Given the description of an element on the screen output the (x, y) to click on. 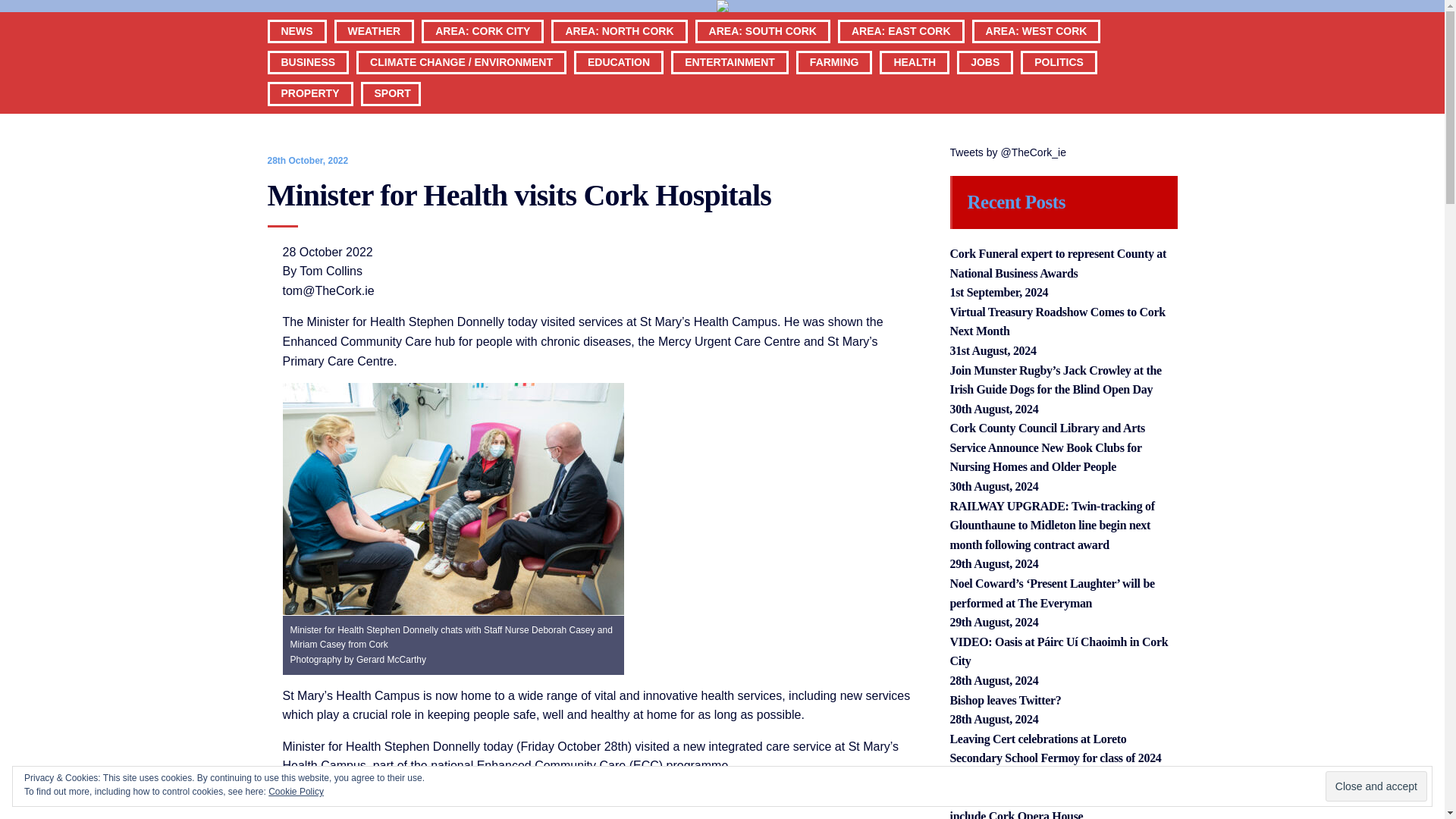
AREA: NORTH CORK (618, 56)
AREA: SOUTH CORK (762, 56)
Close and accept (1375, 786)
AREA: WEST CORK (1036, 56)
